Given the description of an element on the screen output the (x, y) to click on. 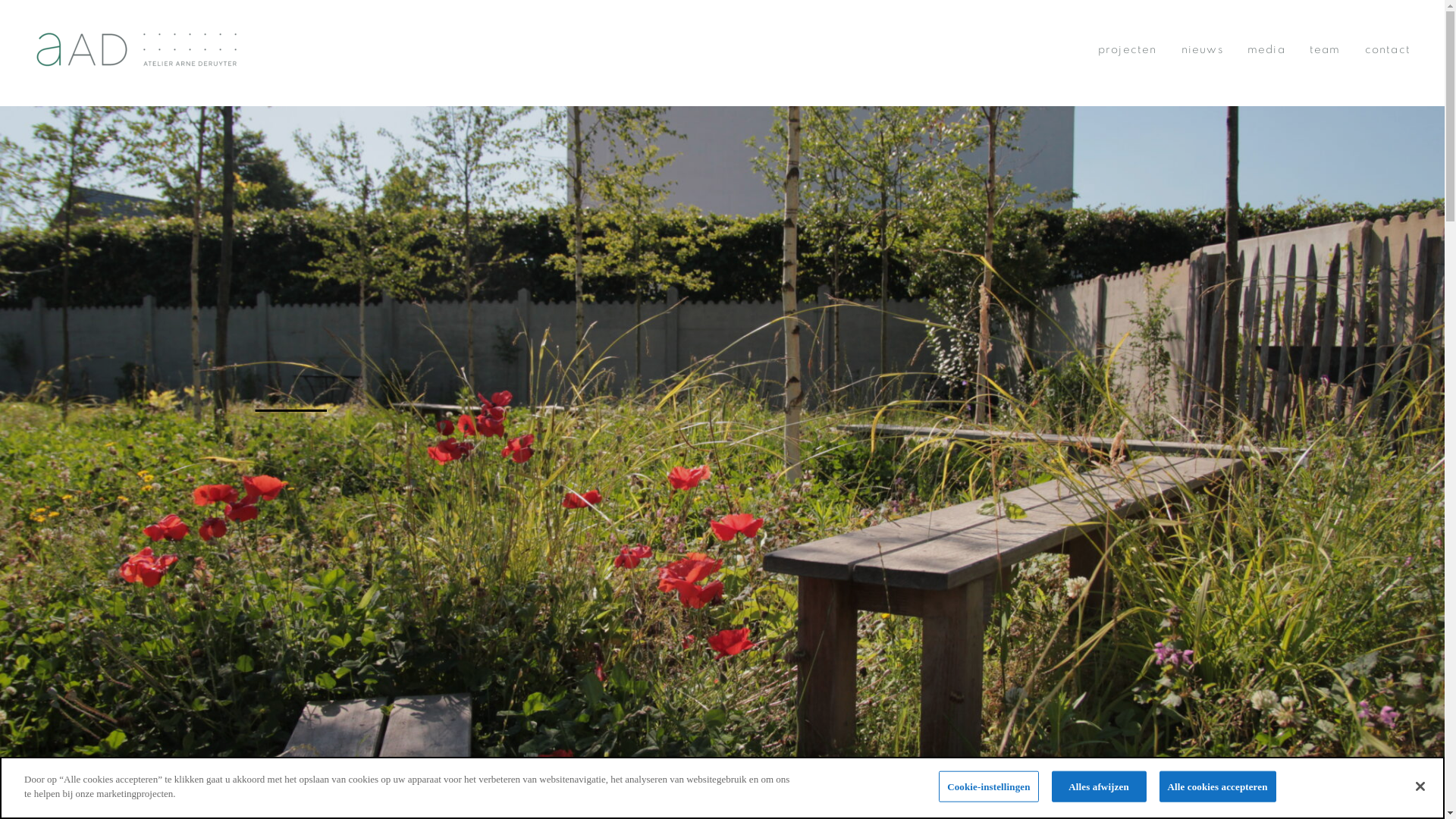
Cookie-instellingen Element type: text (988, 787)
nieuws Element type: text (1202, 49)
Alle cookies accepteren Element type: text (1217, 787)
Alles afwijzen Element type: text (1098, 787)
projecten Element type: text (1127, 49)
media Element type: text (1266, 49)
contact Element type: text (1387, 49)
team Element type: text (1324, 49)
